Given the description of an element on the screen output the (x, y) to click on. 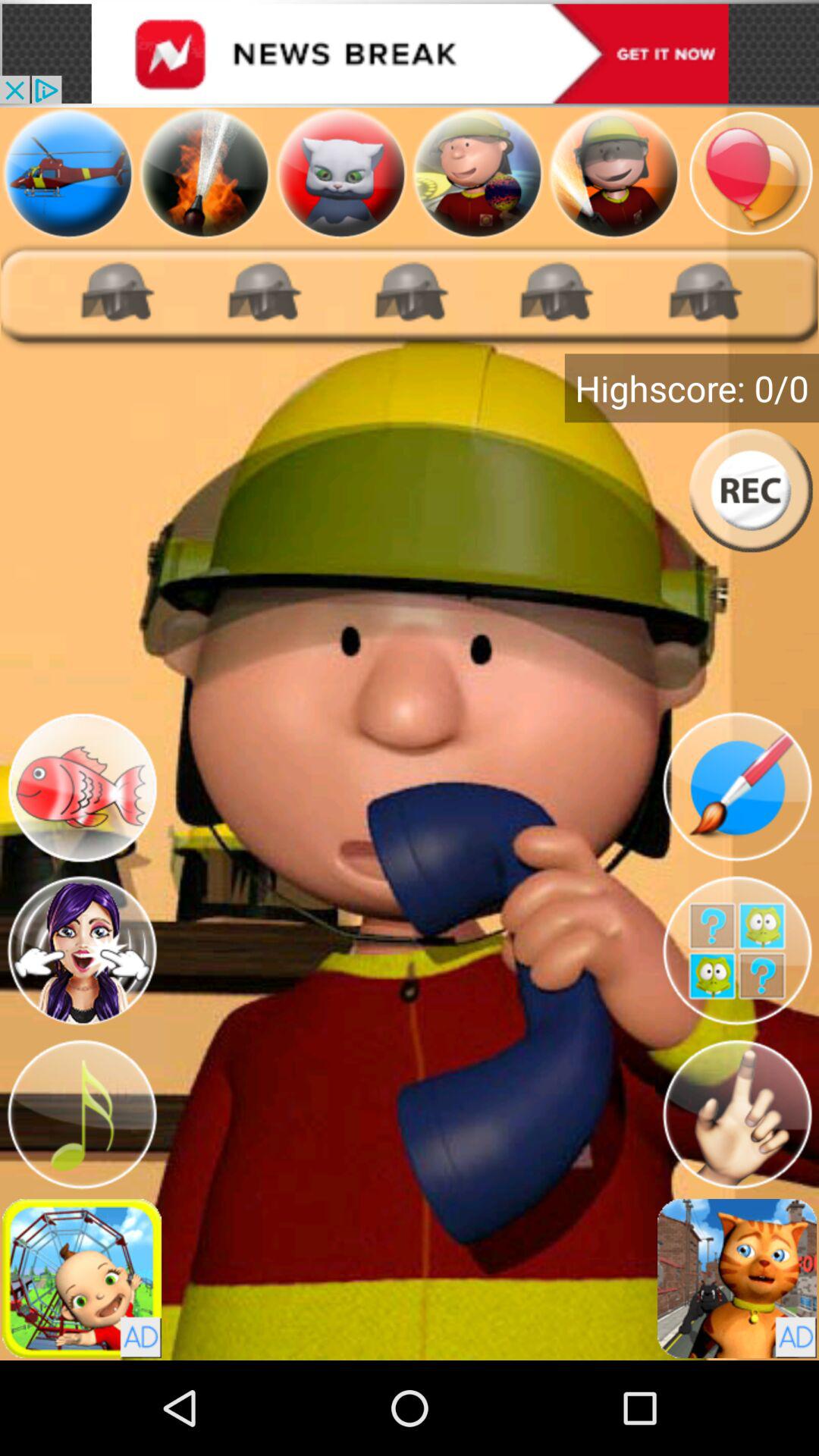
poke firefighter (81, 950)
